Given the description of an element on the screen output the (x, y) to click on. 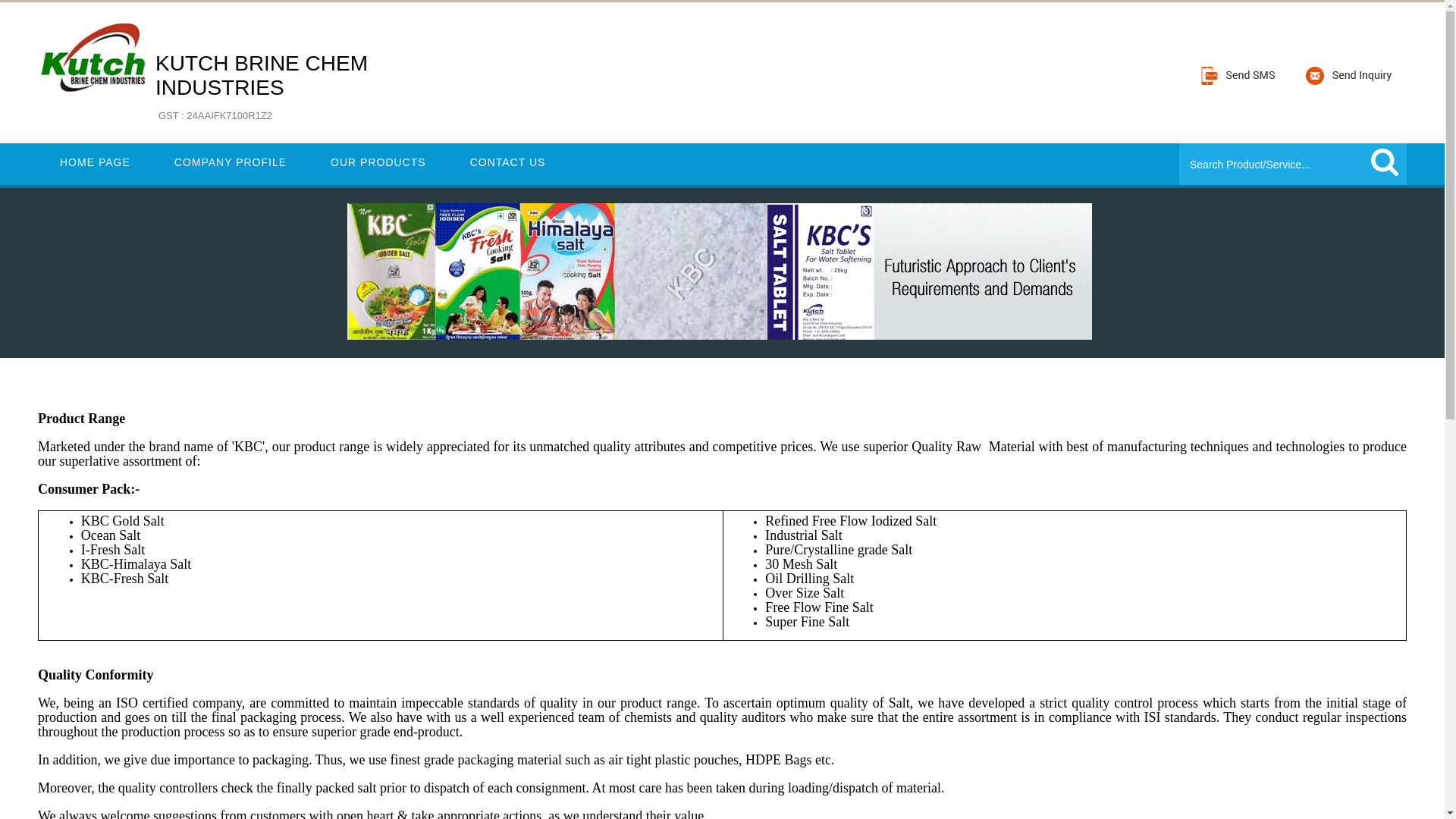
submit (1384, 162)
COMPANY PROFILE (261, 87)
HOME PAGE (230, 161)
submit (94, 161)
OUR PRODUCTS (1384, 162)
CONTACT US (378, 161)
